Given the description of an element on the screen output the (x, y) to click on. 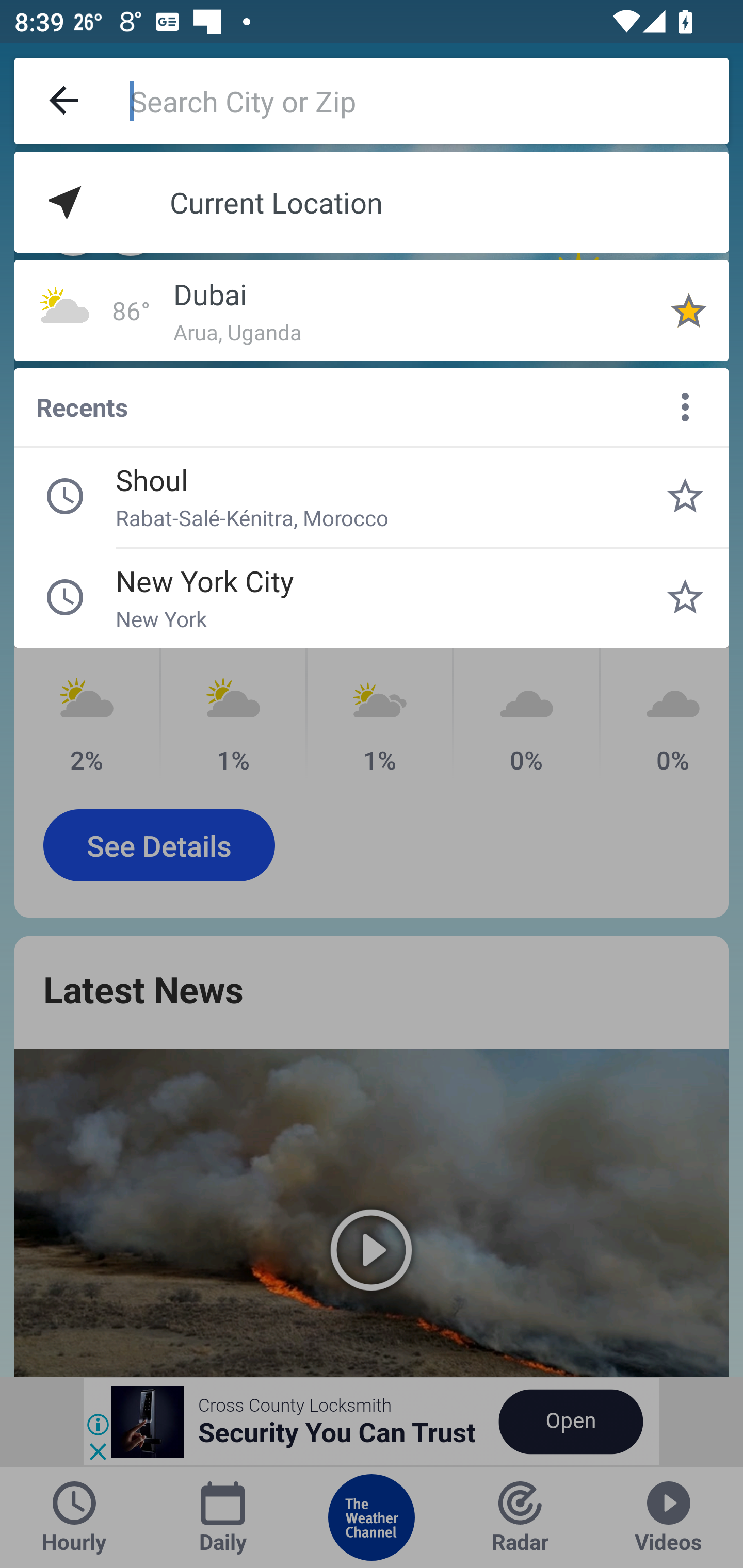
Back (64, 101)
Search City or Zip (429, 100)
Current Location (371, 202)
Dubai Arua, Uganda Remove from favorites (688, 310)
more (685, 406)
Shoul Rabat-Salé-Kénitra, Morocco Add to favorites (684, 496)
New York City New York Add to favorites (684, 597)
